Given the description of an element on the screen output the (x, y) to click on. 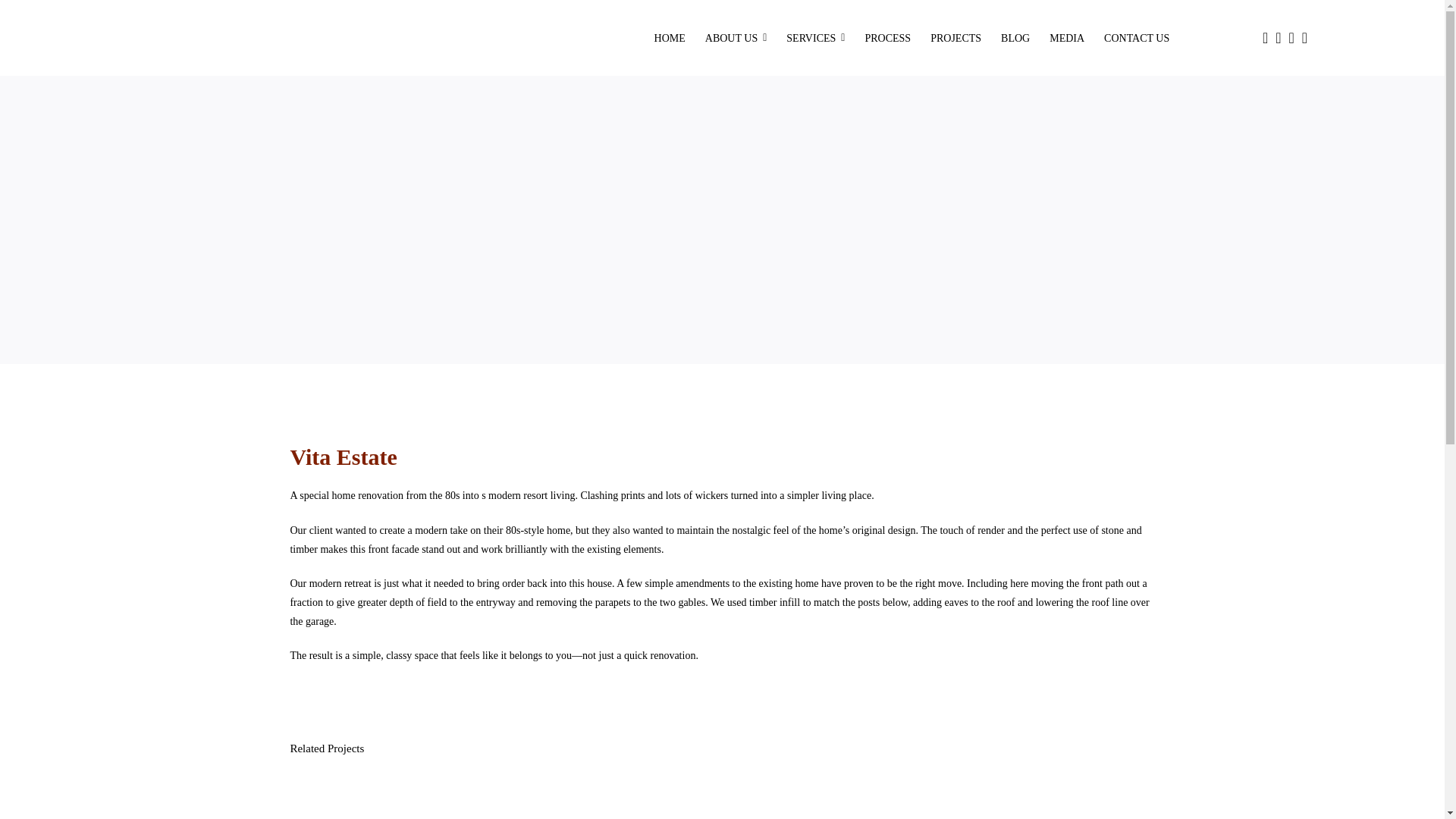
MEDIA (1066, 37)
PROCESS (887, 37)
ABOUT US (736, 37)
SERVICES (815, 37)
HOME (670, 37)
BLOG (1015, 37)
PROJECTS (955, 37)
HIA (1249, 37)
CONTACT US (1136, 37)
